Given the description of an element on the screen output the (x, y) to click on. 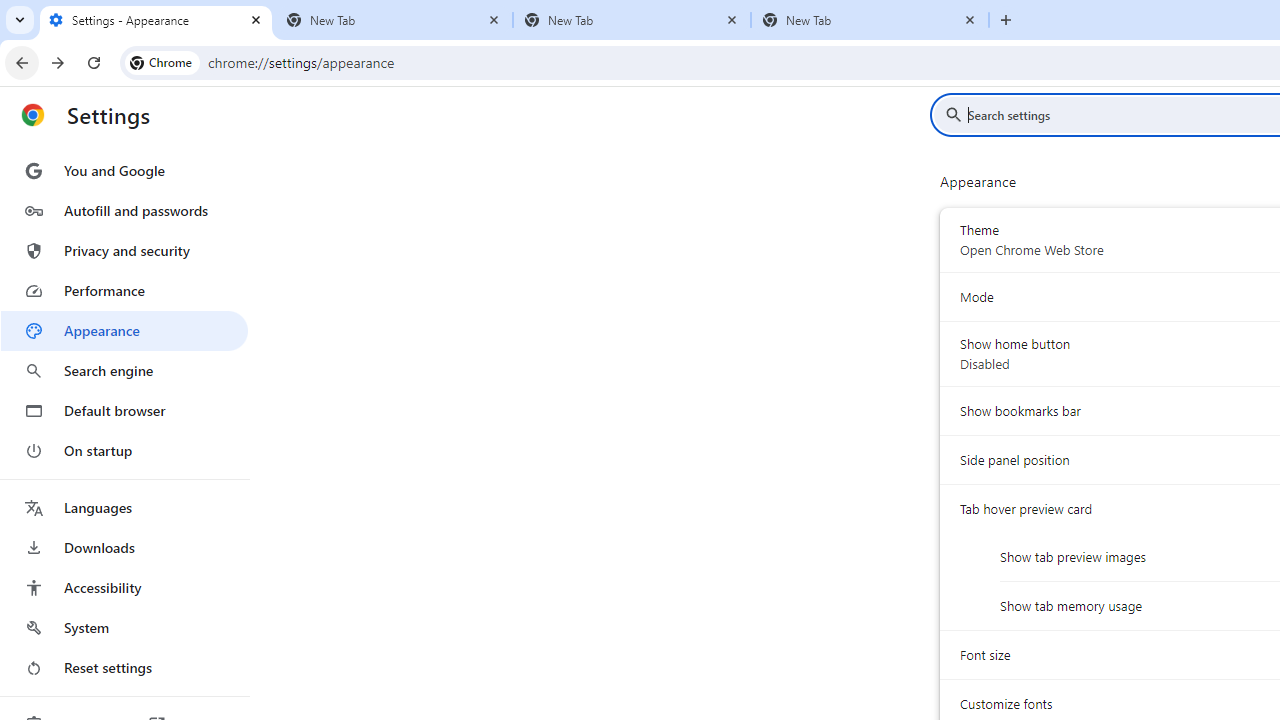
Settings - Appearance (156, 20)
Privacy and security (124, 250)
New Tab (394, 20)
Downloads (124, 547)
Autofill and passwords (124, 210)
Accessibility (124, 587)
Languages (124, 507)
Default browser (124, 410)
You and Google (124, 170)
